Given the description of an element on the screen output the (x, y) to click on. 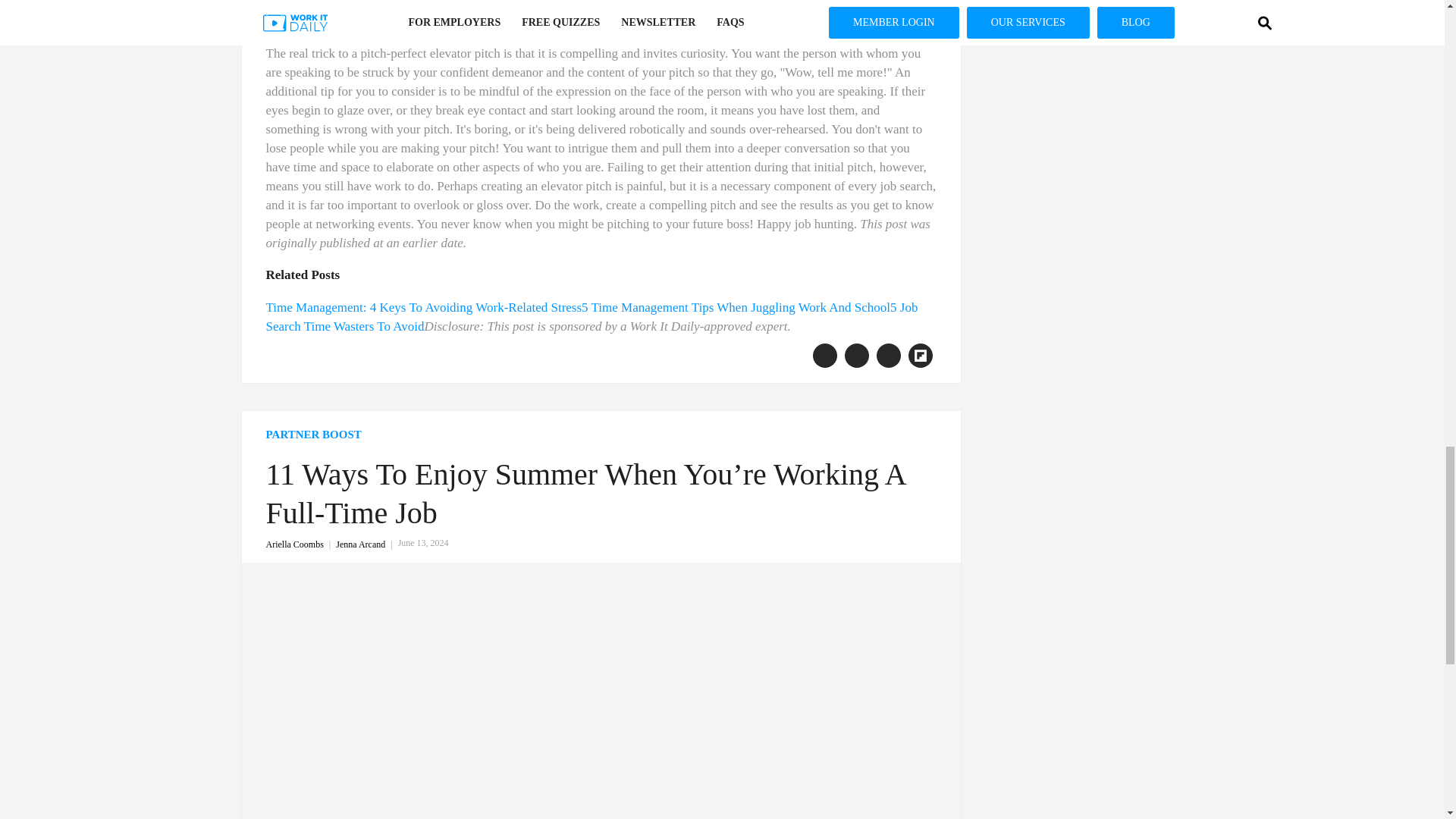
networking event (623, 20)
job fair (697, 20)
